Given the description of an element on the screen output the (x, y) to click on. 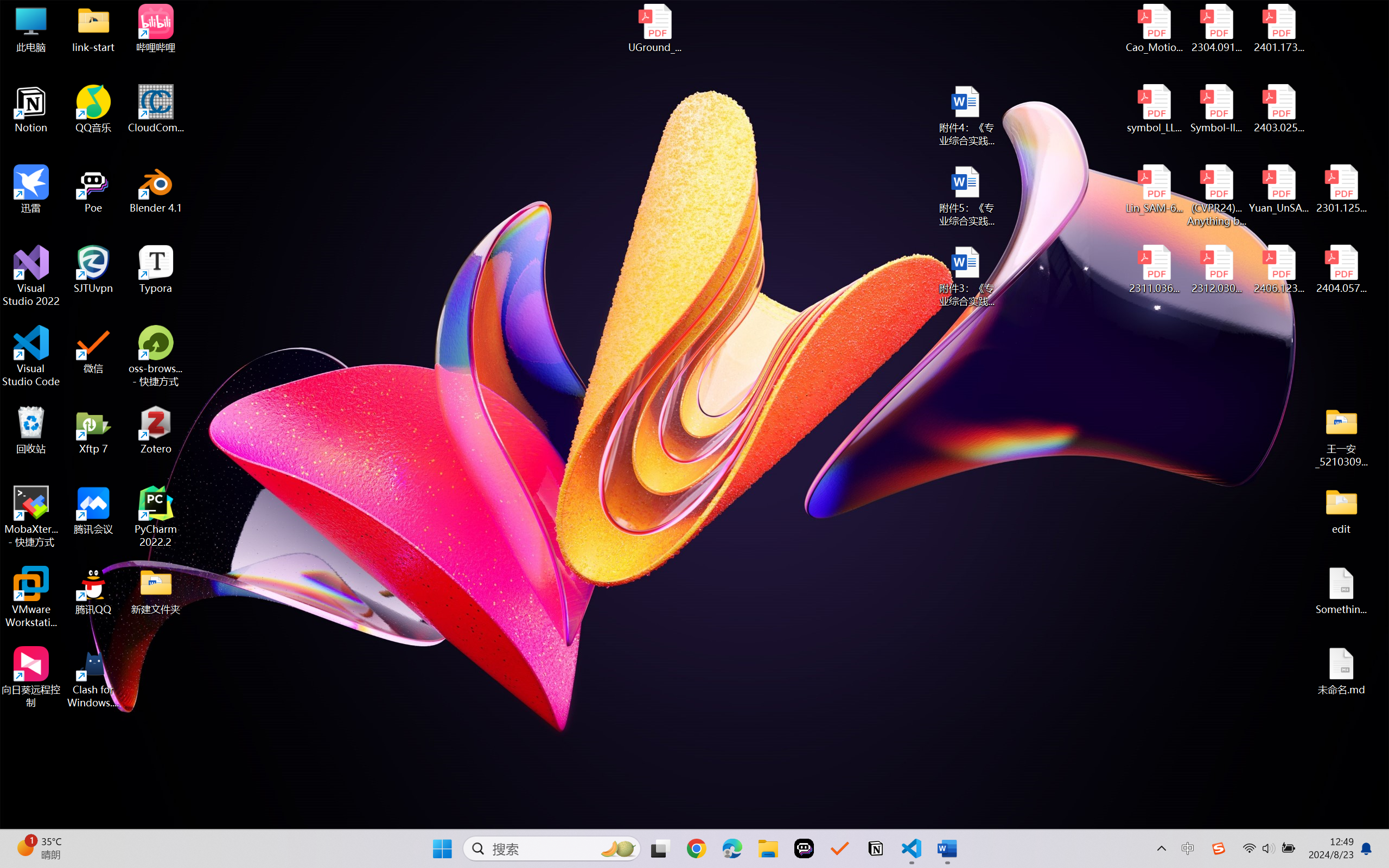
Something.md (1340, 591)
Blender 4.1 (156, 189)
2404.05719v1.pdf (1340, 269)
VMware Workstation Pro (31, 597)
(CVPR24)Matching Anything by Segmenting Anything.pdf (1216, 195)
2311.03658v2.pdf (1154, 269)
